Given the description of an element on the screen output the (x, y) to click on. 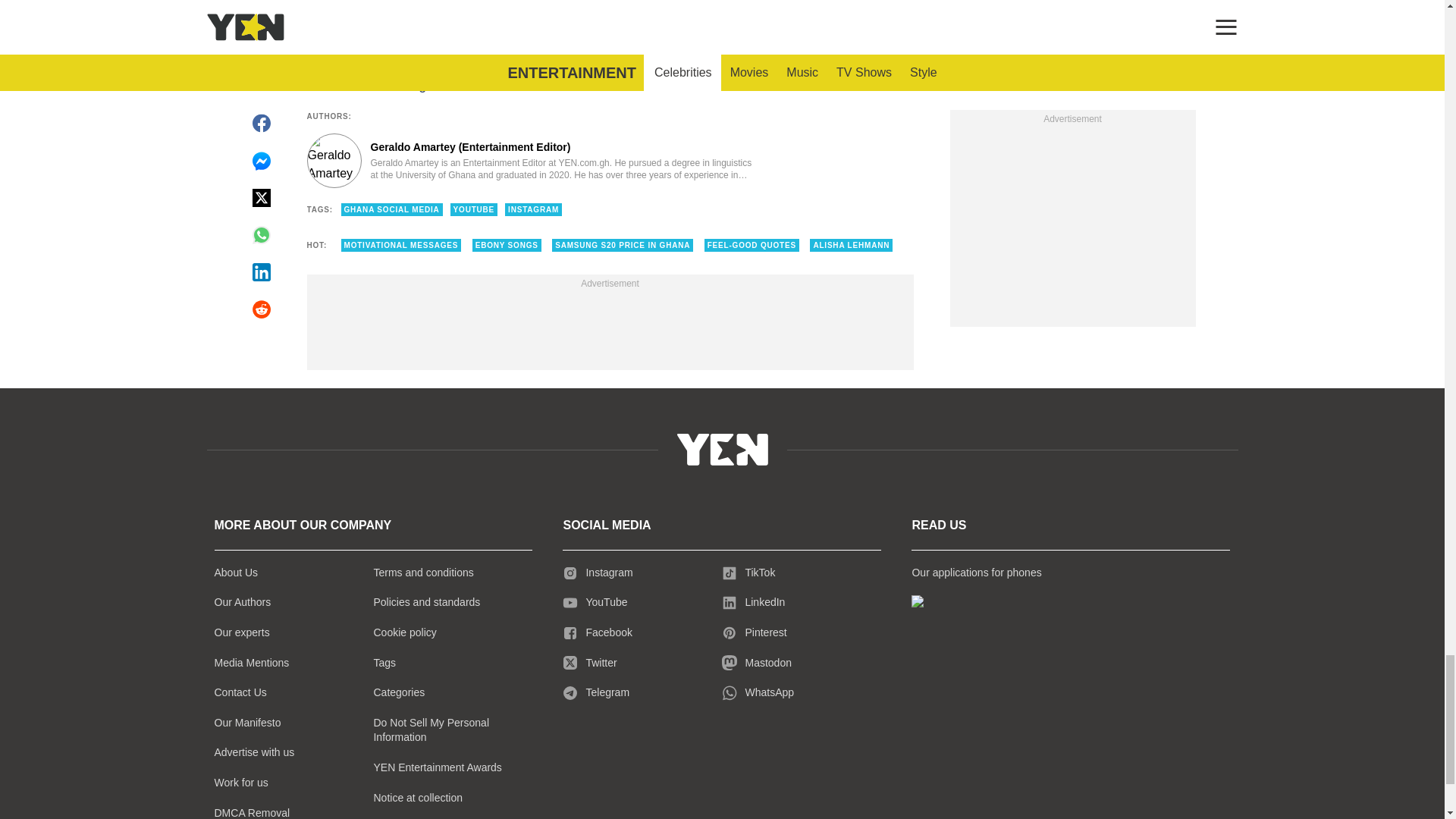
Author page (533, 160)
